Given the description of an element on the screen output the (x, y) to click on. 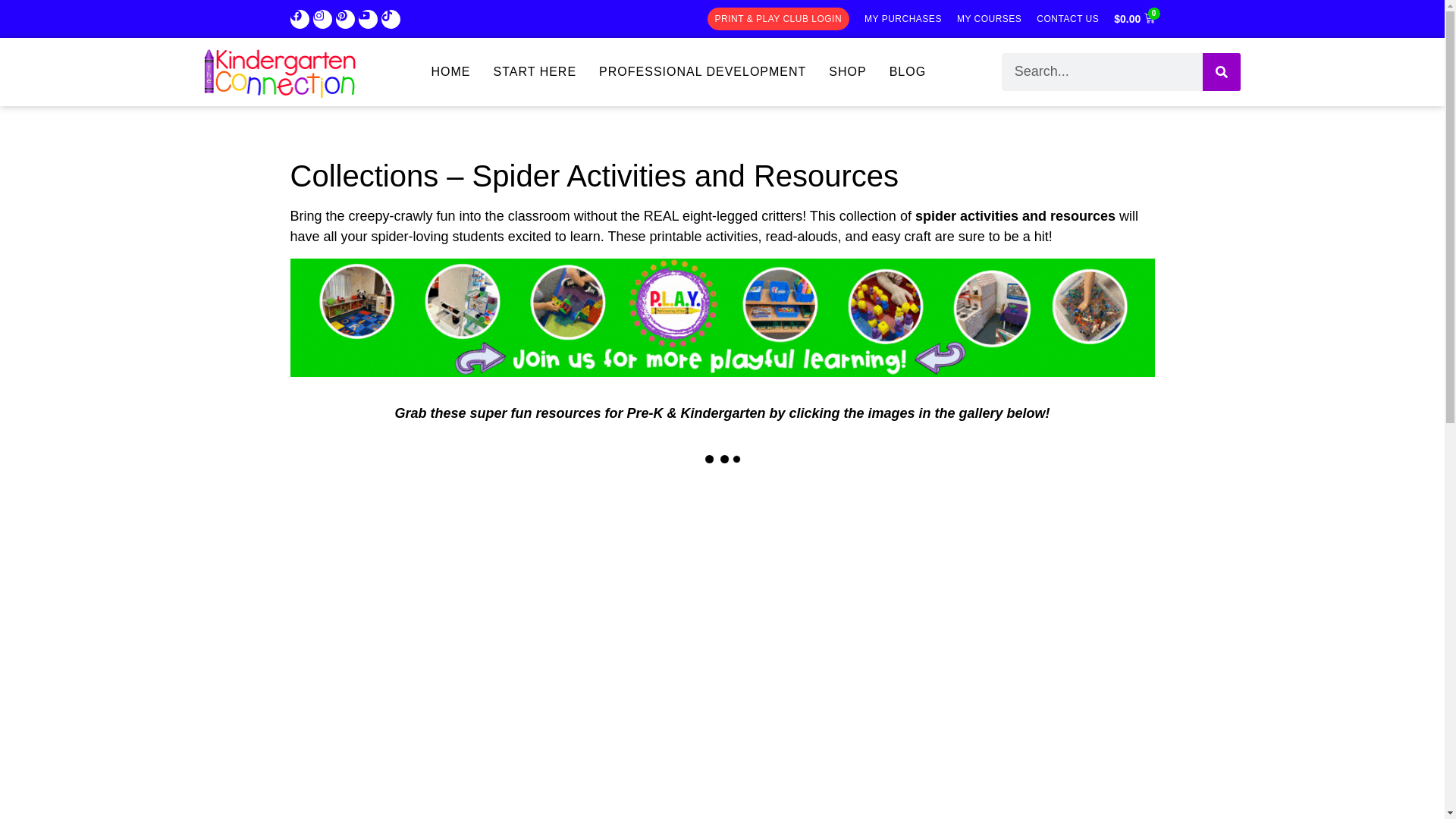
SHOP (847, 71)
PROFESSIONAL DEVELOPMENT (702, 71)
MY PURCHASES (903, 18)
Spider Pre-Writing Practice Printables (1009, 805)
Spider Color Words Activity (434, 805)
Paper Plate Spider Craft (720, 623)
BLOG (907, 71)
Spider Web Counting Game (434, 623)
START HERE (535, 71)
Spider Books for Kids (720, 805)
